Given the description of an element on the screen output the (x, y) to click on. 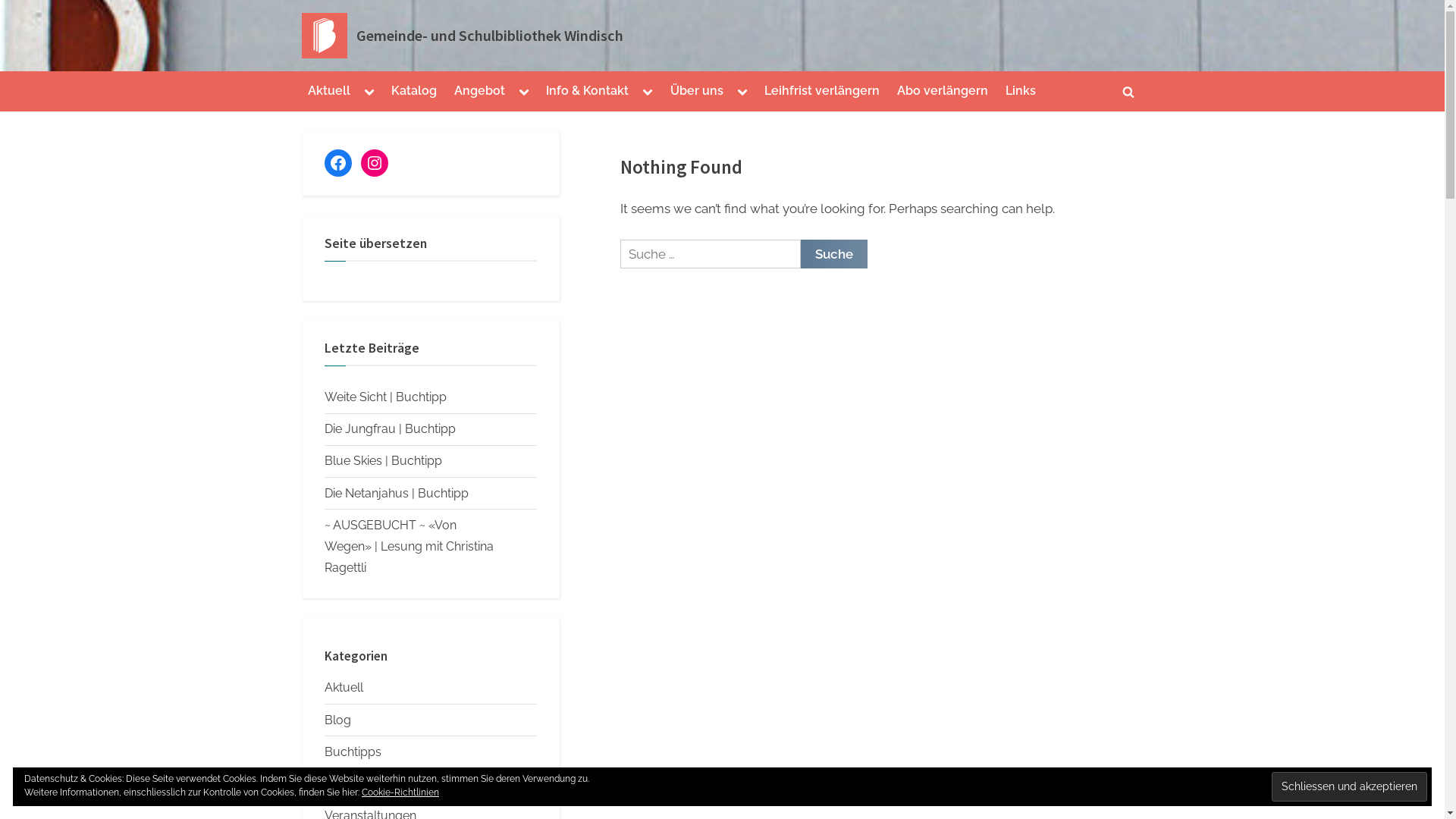
Facebook Element type: text (337, 162)
Buchtipps Element type: text (352, 751)
Aktuell Element type: text (328, 91)
Infos Element type: text (337, 783)
Angebot Element type: text (479, 91)
Links Element type: text (1019, 91)
Toggle sub-menu Element type: text (647, 91)
Cookie-Richtlinien Element type: text (400, 792)
Suche Element type: text (833, 253)
Instagram Element type: text (374, 162)
Toggle sub-menu Element type: text (523, 91)
Gemeinde- und Schulbibliothek Windisch Element type: text (489, 35)
Toggle sub-menu Element type: text (368, 91)
Info & Kontakt Element type: text (586, 91)
Aktuell Element type: text (343, 687)
Weite Sicht | Buchtipp Element type: text (385, 396)
Blue Skies | Buchtipp Element type: text (383, 460)
Toggle sub-menu Element type: text (742, 91)
Schliessen und akzeptieren Element type: text (1349, 786)
Toggle search form Element type: text (1128, 91)
Die Jungfrau | Buchtipp Element type: text (389, 428)
Blog Element type: text (337, 719)
Katalog Element type: text (413, 91)
Die Netanjahus | Buchtipp Element type: text (396, 493)
